Given the description of an element on the screen output the (x, y) to click on. 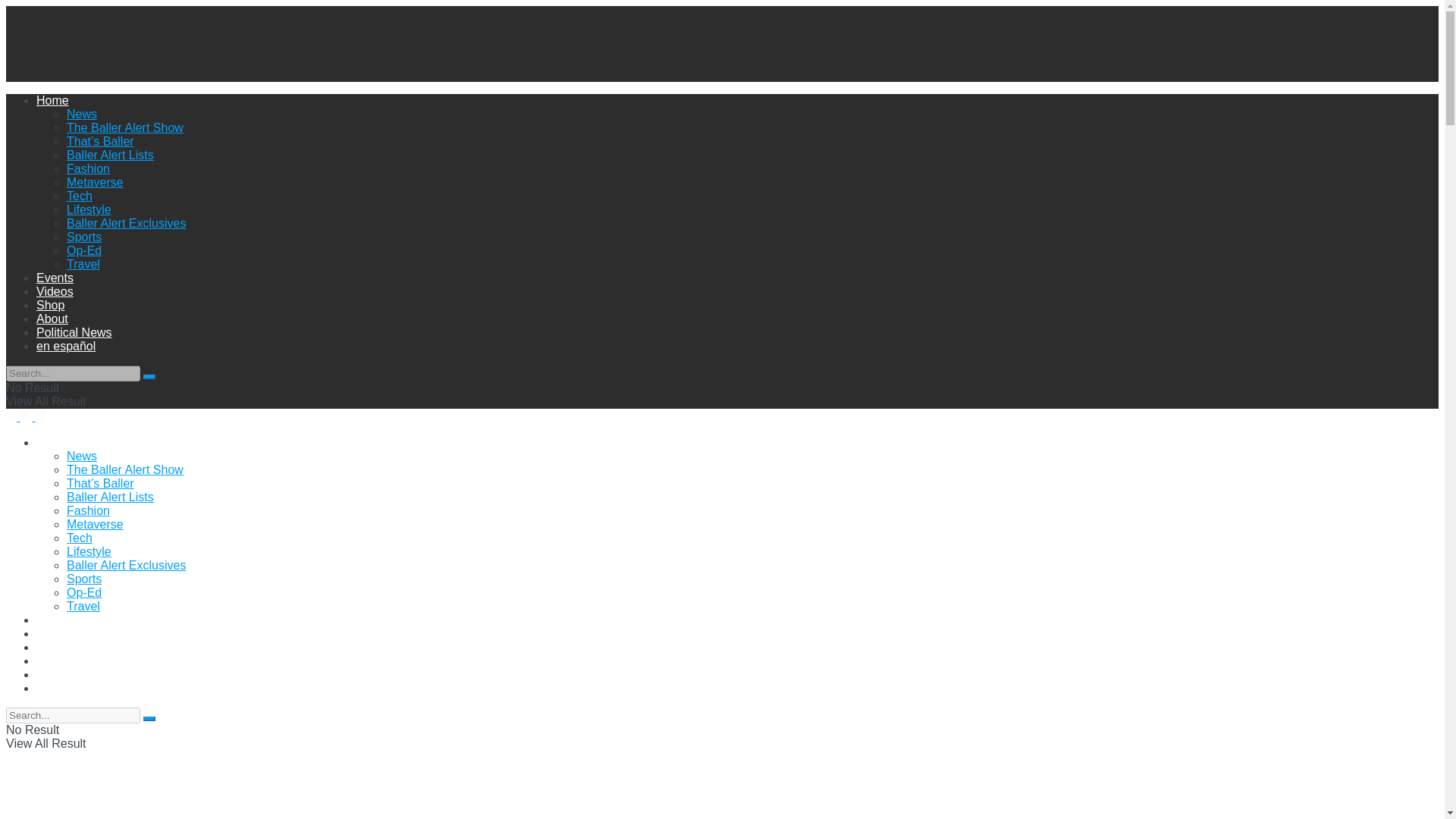
The Baller Alert Show (124, 469)
Events (55, 277)
News (81, 113)
The Baller Alert Show (124, 127)
Political News (74, 332)
Tech (79, 195)
Metaverse (94, 523)
Tech (79, 537)
Baller Alert Exclusives (126, 223)
Travel (83, 264)
